Given the description of an element on the screen output the (x, y) to click on. 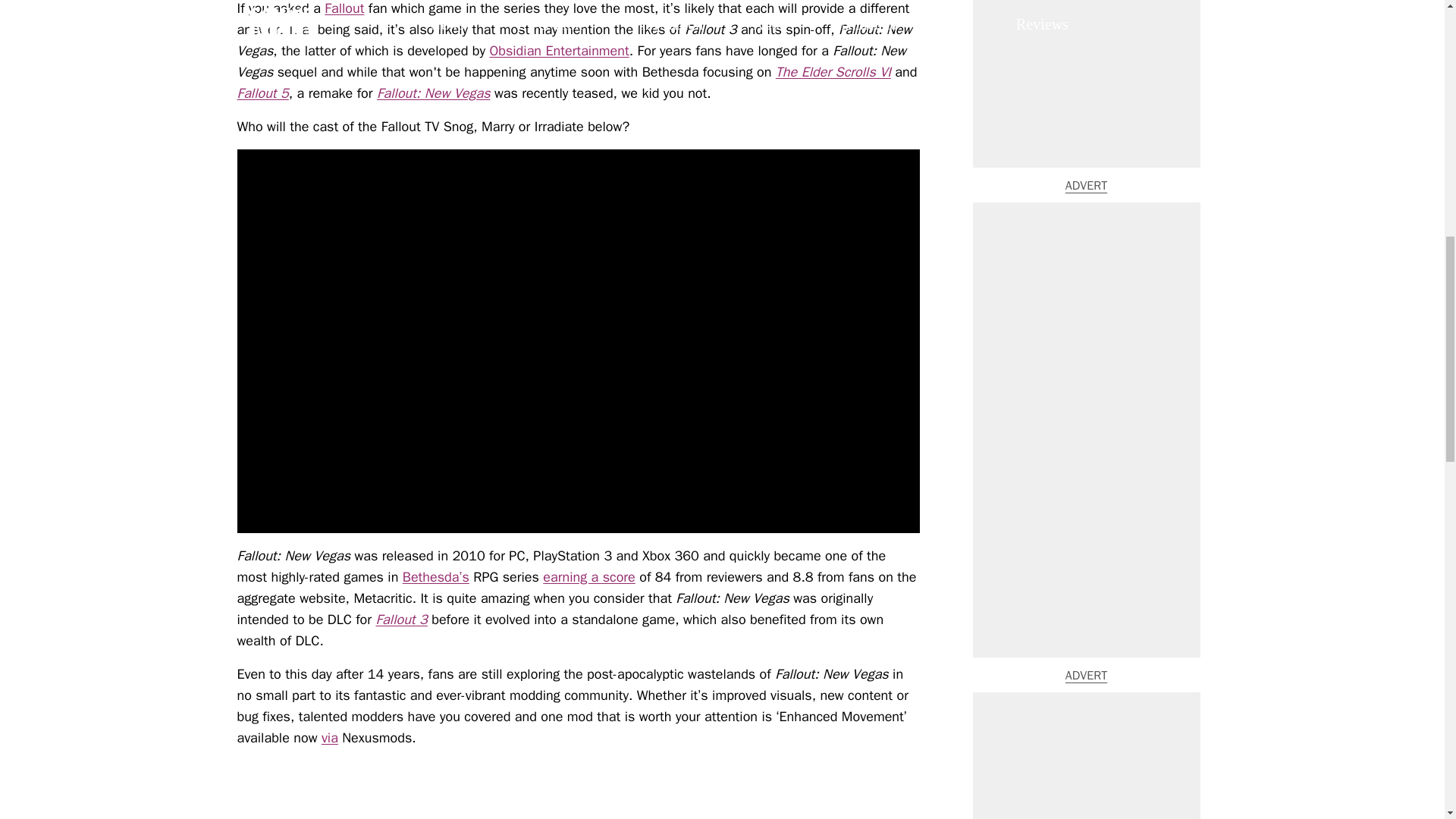
The Elder Scrolls VI (833, 71)
Fallout 5 (261, 93)
Fallout: New Vegas (433, 93)
Fallout 3 (400, 619)
via (329, 737)
Fallout (344, 8)
Obsidian Entertainment (558, 50)
earning a score (588, 576)
